Given the description of an element on the screen output the (x, y) to click on. 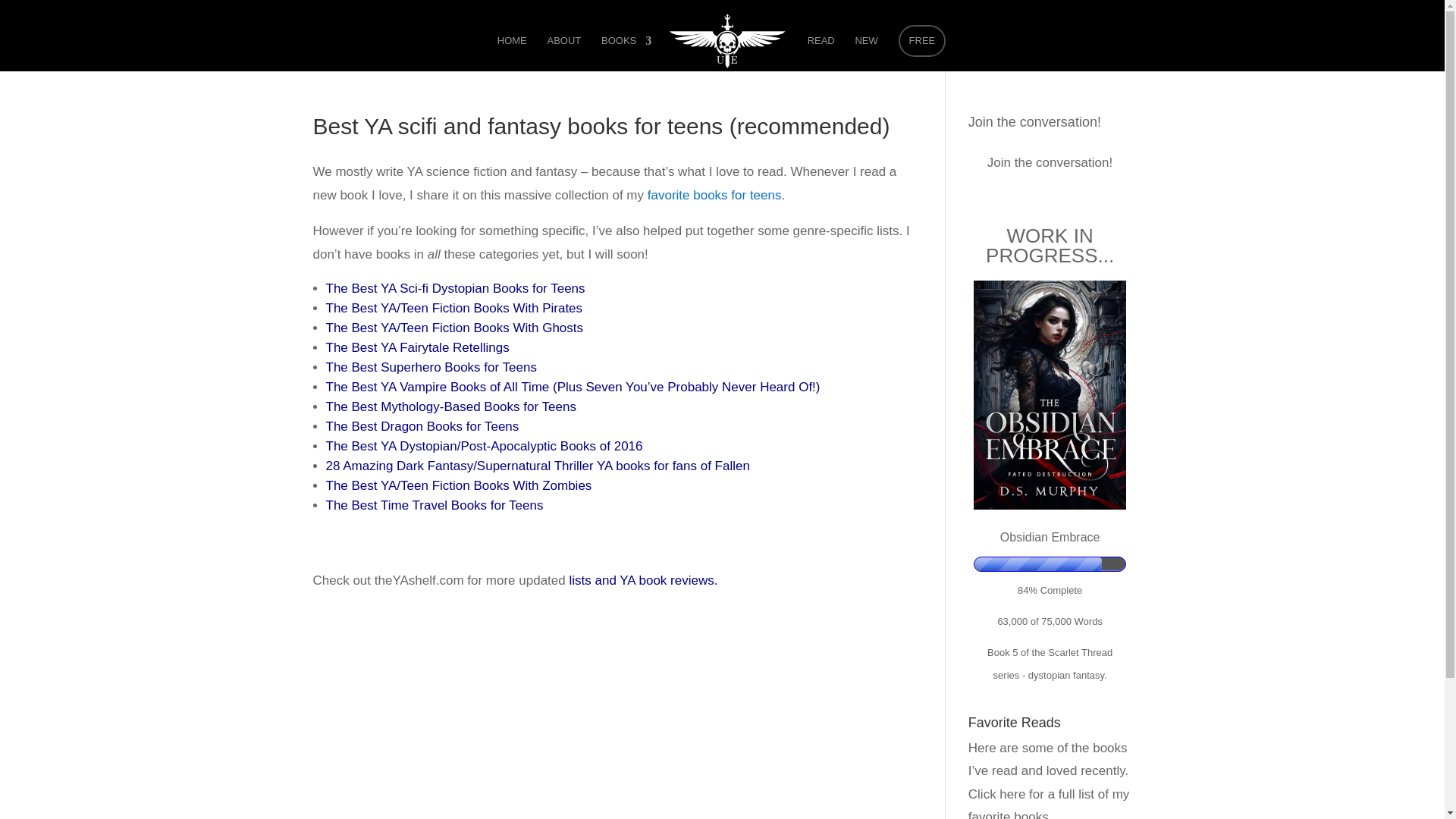
The Best Dragon Books for Teens (422, 426)
The Best YA Fairytale Retellings (417, 347)
The Best YA Sci-fi Dystopian Books for Teens (455, 288)
The Best Mythology-Based Books for Teens (451, 406)
Join the conversation! (1034, 121)
The Best Time Travel Books for Teens (434, 504)
ABOUT (563, 53)
lists and YA book reviews (641, 580)
Click here (997, 794)
The Best Superhero Books for Teens (431, 367)
